Given the description of an element on the screen output the (x, y) to click on. 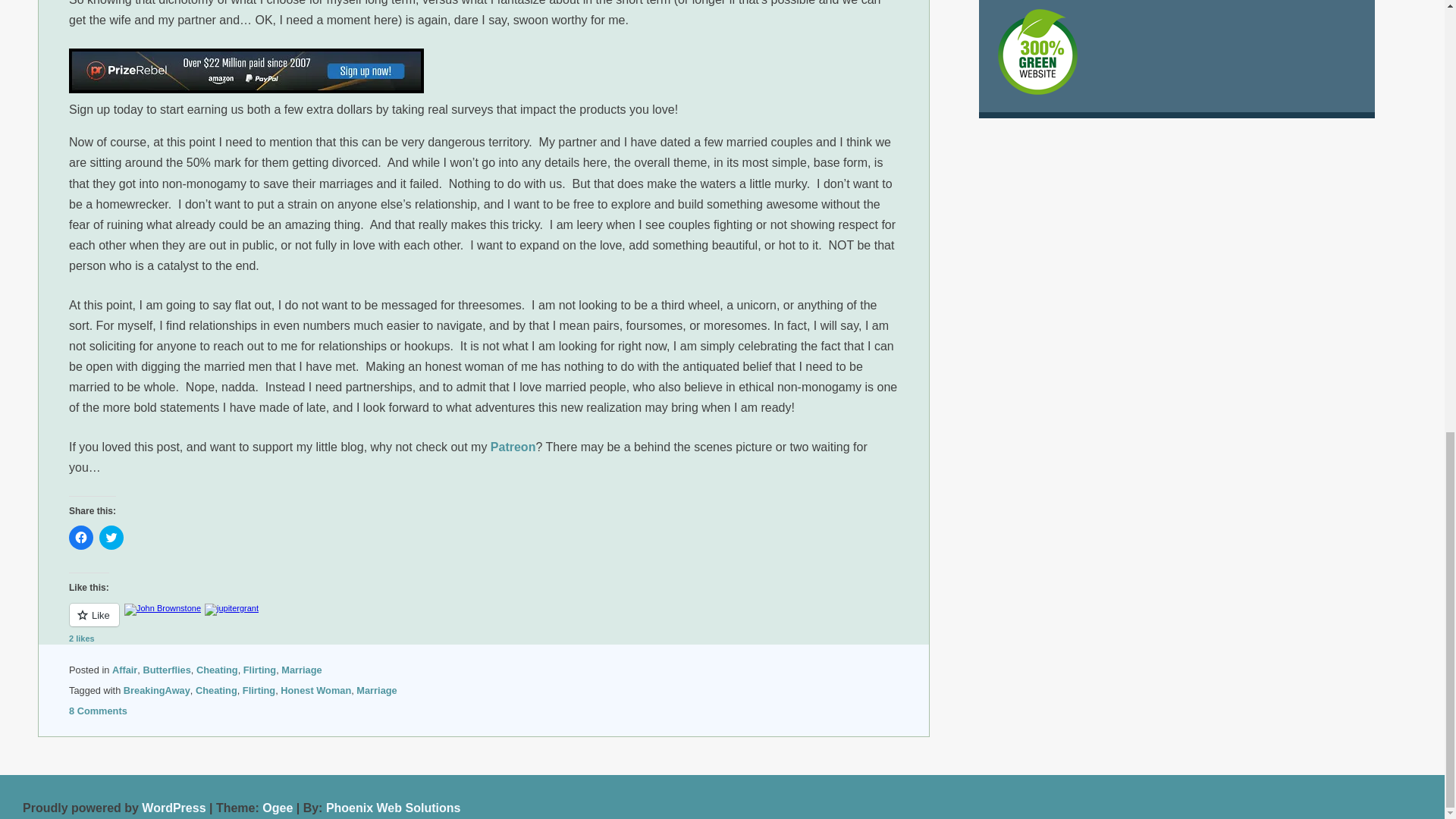
Click to share on Facebook (80, 537)
Marriage (301, 669)
Patreon (512, 446)
Click to share on Twitter (111, 537)
Cheating (217, 669)
8 Comments (98, 710)
Like or Reblog (483, 623)
Flirting (259, 669)
Ogee (277, 807)
Butterflies (166, 669)
Cheating (216, 690)
BreakingAway (156, 690)
Phoenix Web Solutions (393, 807)
WordPress (173, 807)
Affair (124, 669)
